Given the description of an element on the screen output the (x, y) to click on. 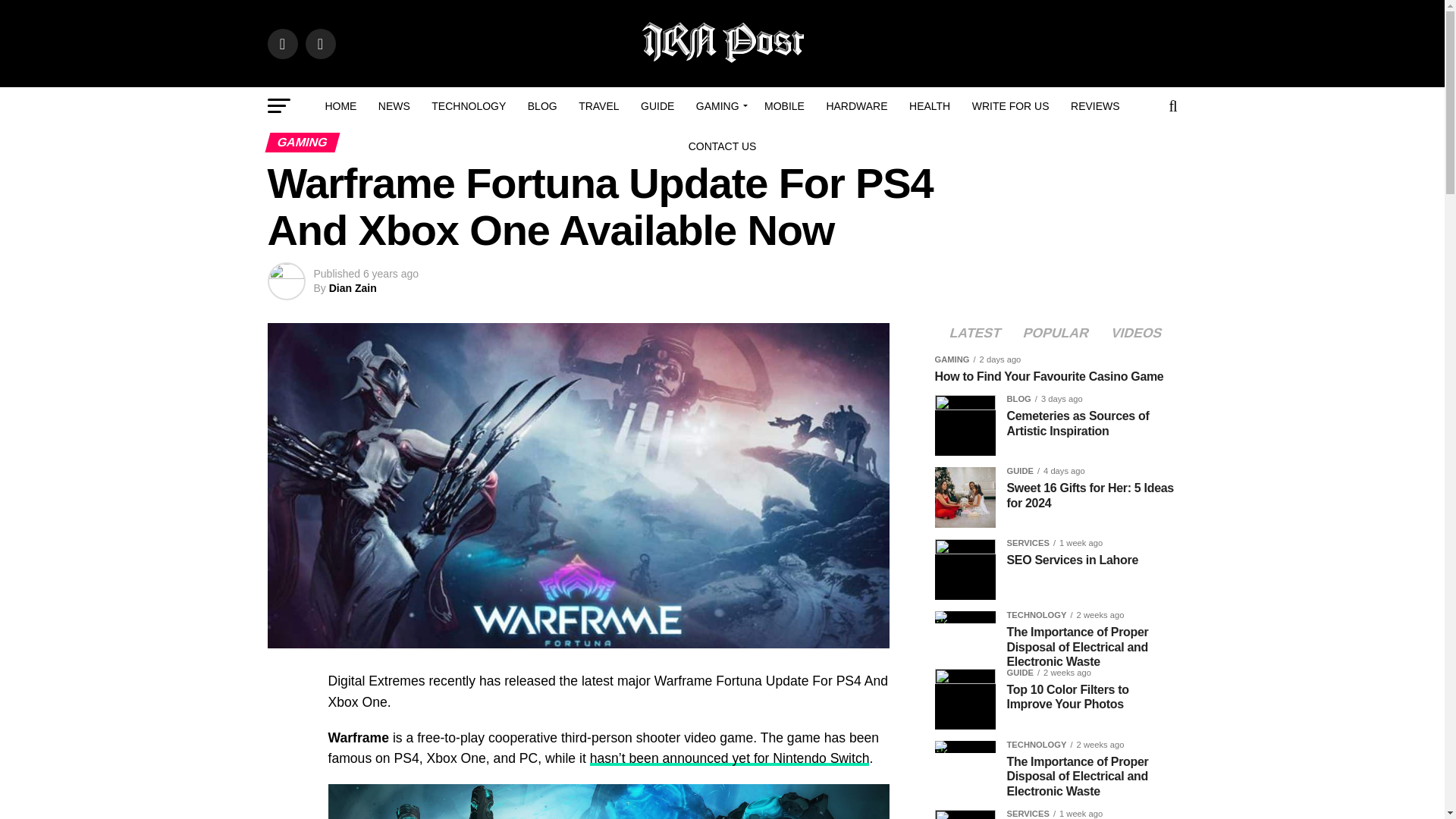
Posts by Dian Zain (353, 287)
TECHNOLOGY (468, 105)
BLOG (542, 105)
GAMING (719, 105)
GUIDE (656, 105)
HOME (340, 105)
TRAVEL (598, 105)
NEWS (394, 105)
